Given the description of an element on the screen output the (x, y) to click on. 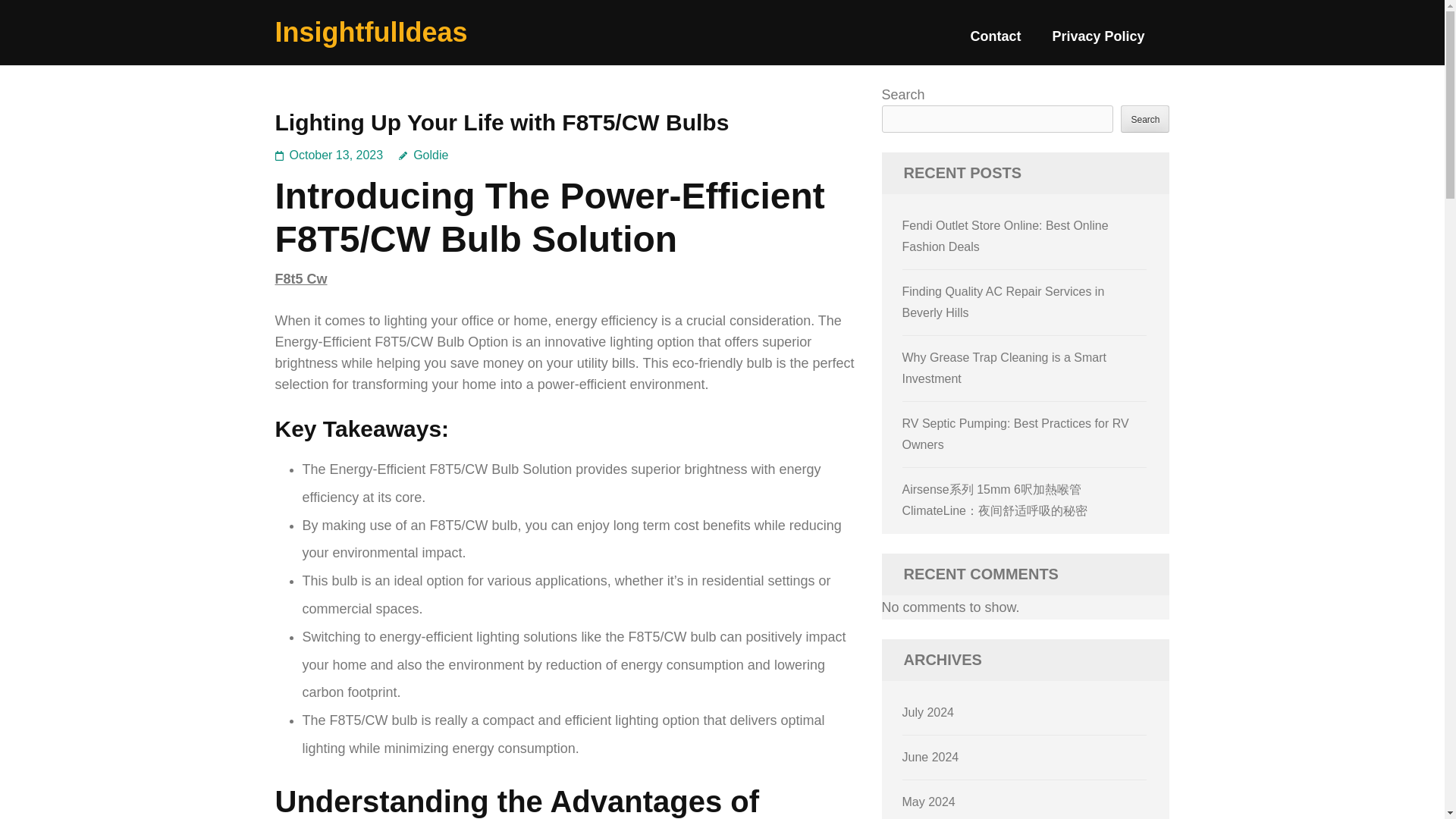
May 2024 (928, 801)
July 2024 (928, 712)
June 2024 (930, 757)
Search (1145, 118)
Goldie (423, 154)
Finding Quality AC Repair Services in Beverly Hills (1003, 302)
October 13, 2023 (336, 154)
Privacy Policy (1097, 42)
InsightfulIdeas (371, 31)
Why Grease Trap Cleaning is a Smart Investment (1004, 367)
Contact (994, 42)
RV Septic Pumping: Best Practices for RV Owners (1015, 433)
Fendi Outlet Store Online: Best Online Fashion Deals (1005, 236)
F8t5 Cw (300, 278)
